Given the description of an element on the screen output the (x, y) to click on. 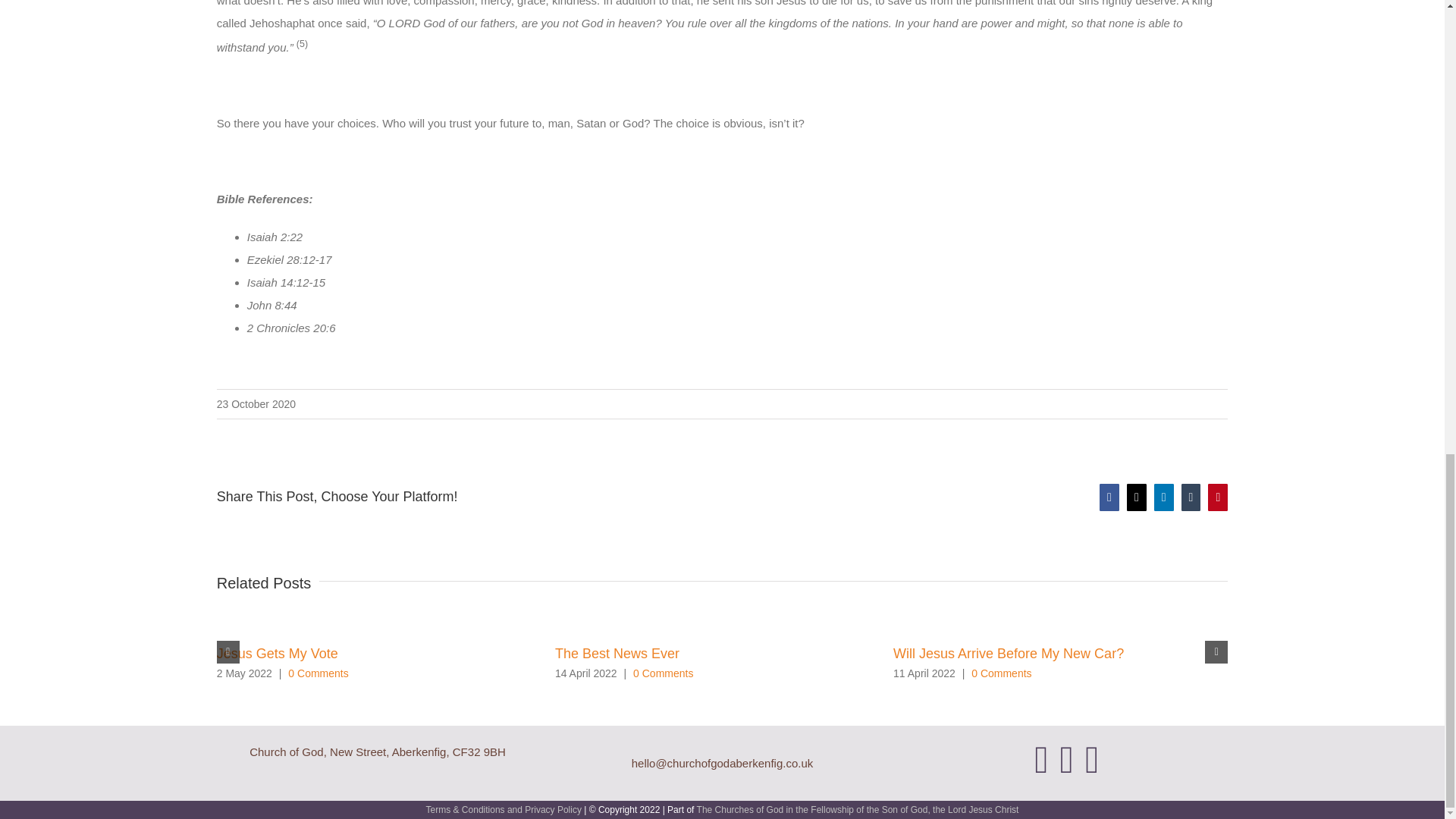
Tumblr (1190, 497)
LinkedIn (1163, 497)
Pinterest (1217, 497)
Facebook (1109, 497)
Instagram (1066, 759)
Will Jesus Arrive Before My New Car? (1008, 653)
YouTube (1091, 759)
Facebook (1040, 759)
X (1136, 497)
Jesus Gets My Vote (276, 653)
The Best News Ever (616, 653)
